Given the description of an element on the screen output the (x, y) to click on. 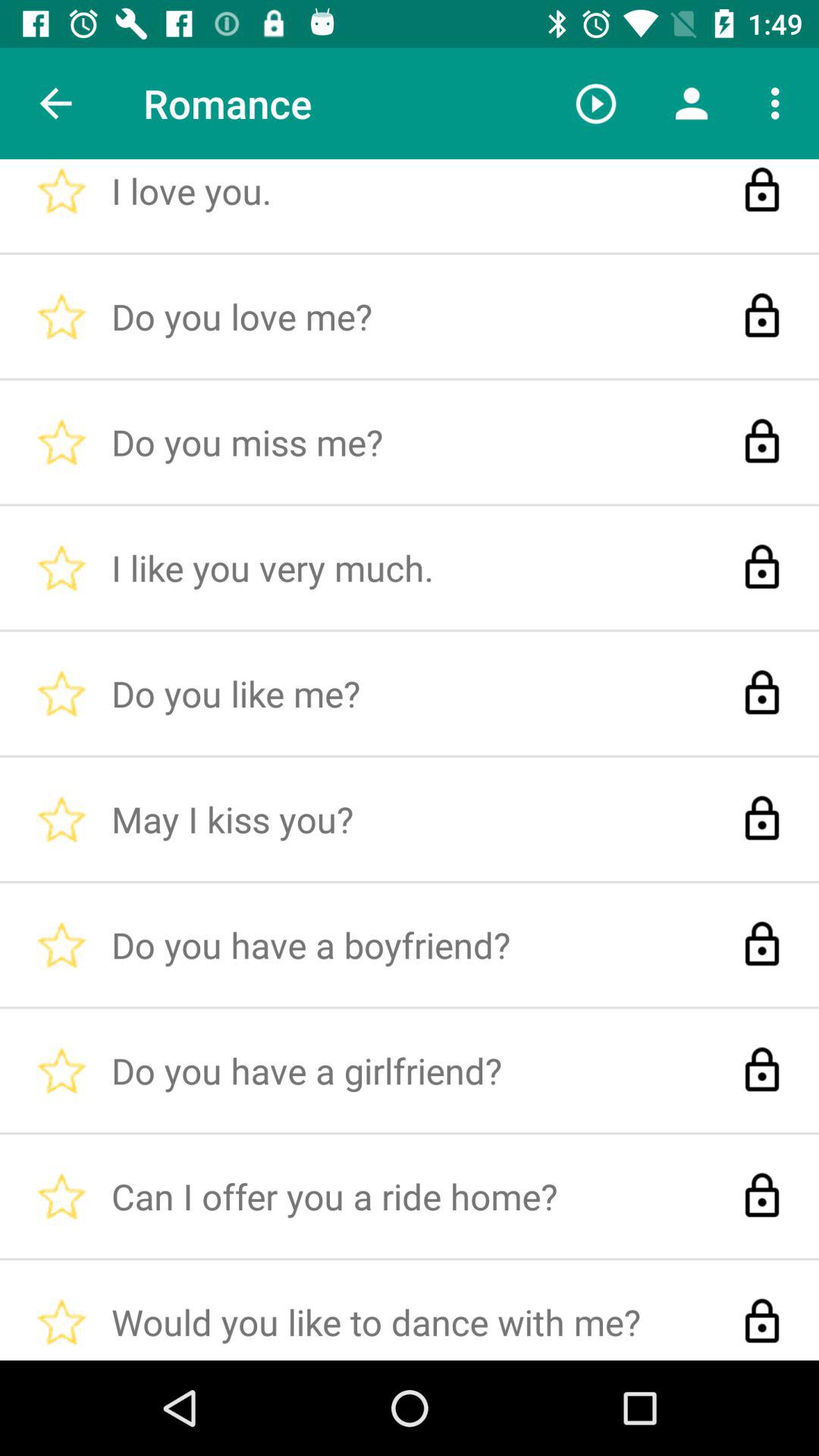
launch icon next to the romance (595, 103)
